Given the description of an element on the screen output the (x, y) to click on. 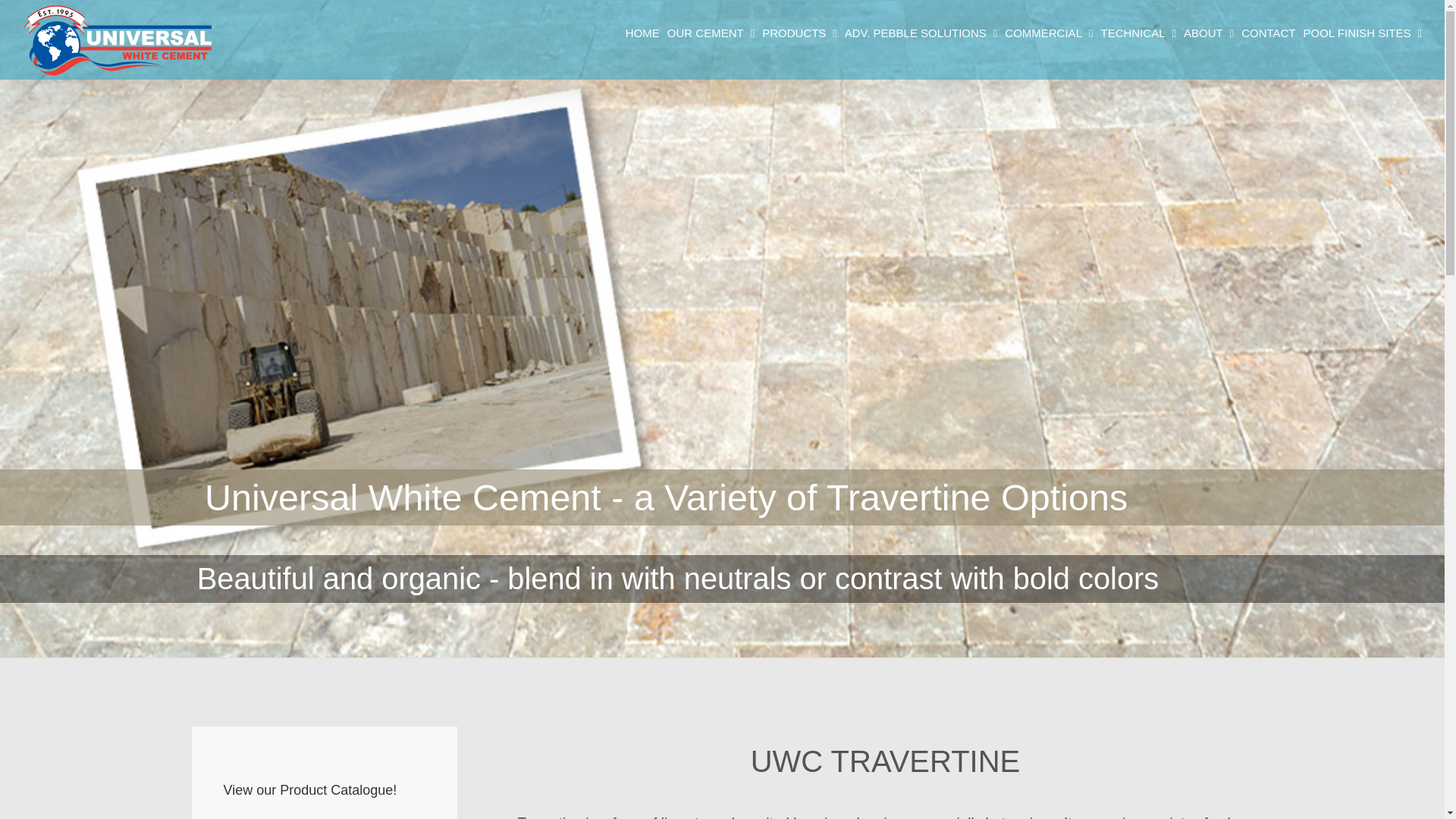
TECHNICAL (1138, 32)
OUR CEMENT (710, 32)
PRODUCTS (799, 32)
COMMERCIAL (1048, 32)
ADV. PEBBLE SOLUTIONS (920, 32)
